Given the description of an element on the screen output the (x, y) to click on. 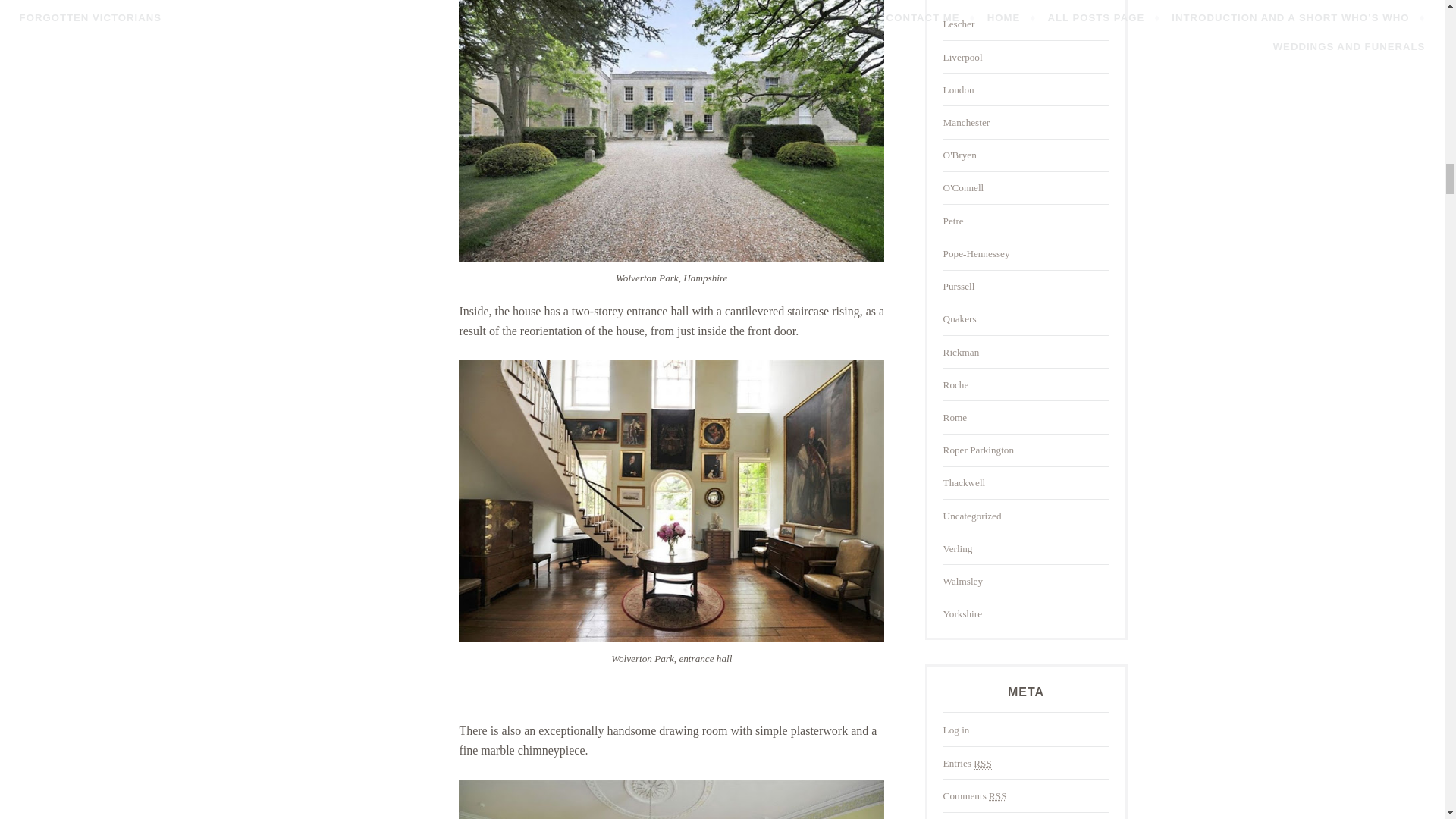
Really Simple Syndication (982, 763)
Really Simple Syndication (997, 796)
